Given the description of an element on the screen output the (x, y) to click on. 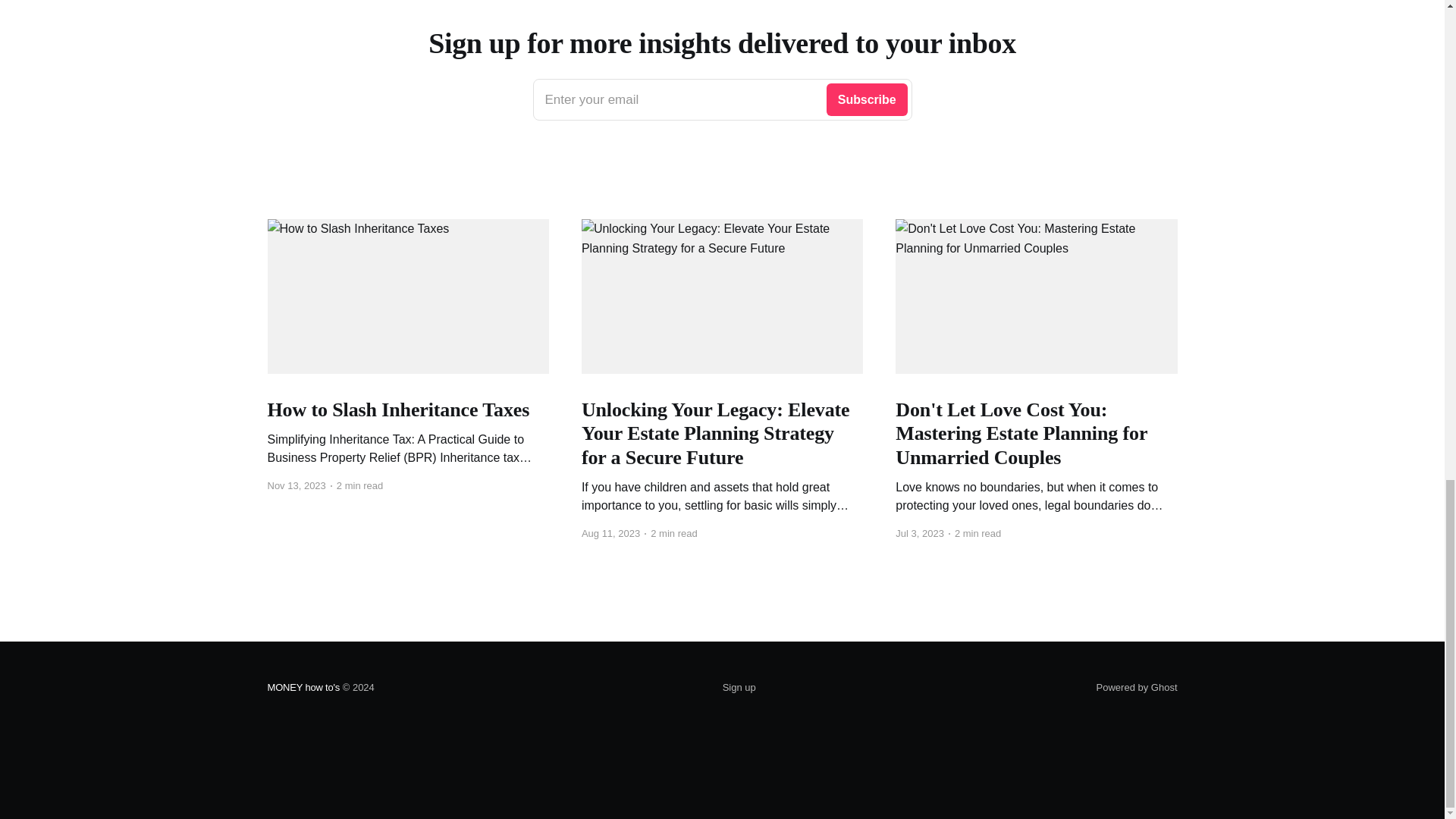
Sign up (738, 687)
Powered by Ghost (1136, 686)
MONEY how to's (302, 686)
